Given the description of an element on the screen output the (x, y) to click on. 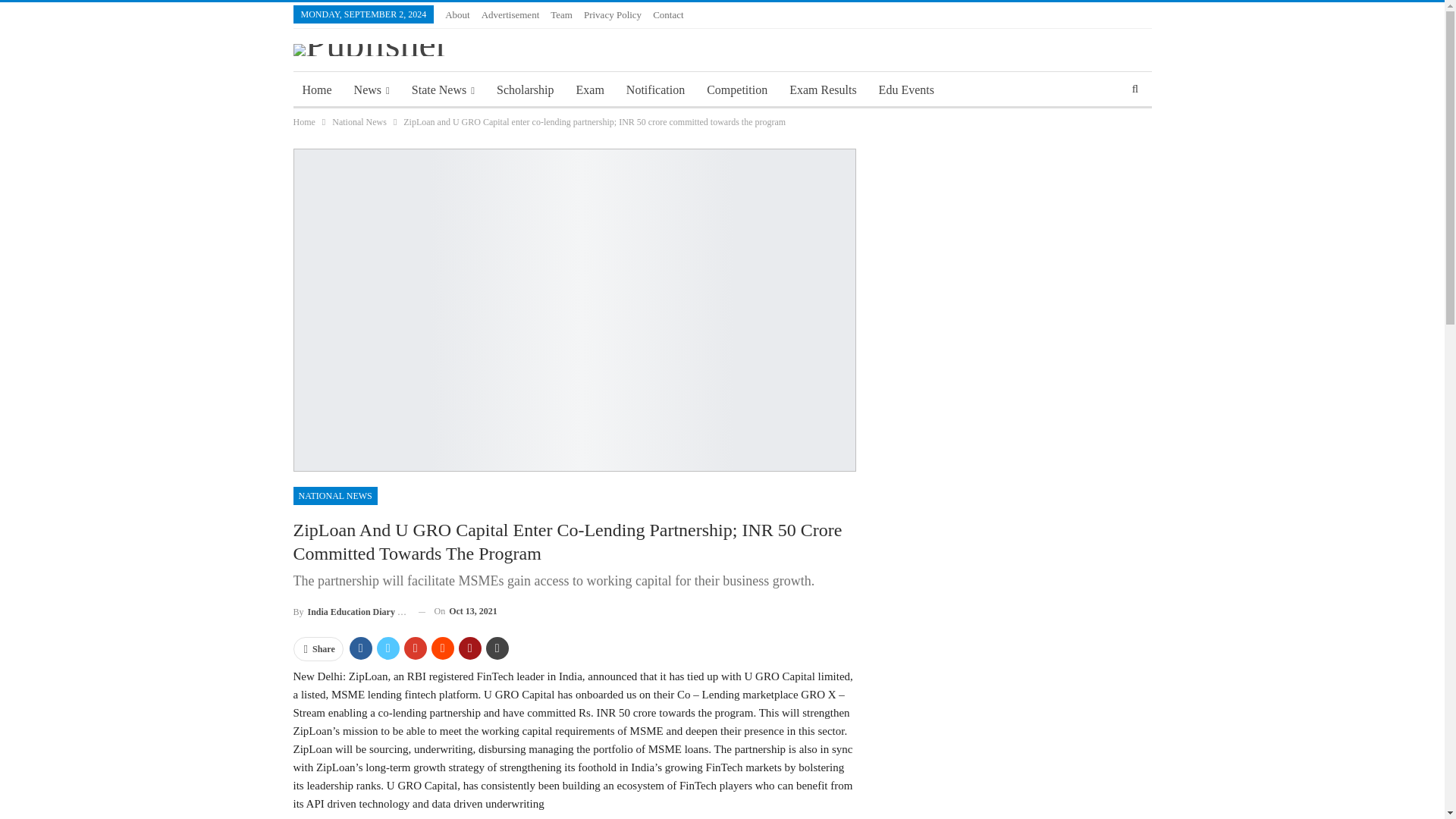
State News (443, 90)
About (457, 14)
News (371, 90)
Team (561, 14)
Advertisement (510, 14)
Privacy Policy (612, 14)
Browse Author Articles (349, 611)
Contact (667, 14)
Home (316, 90)
